Given the description of an element on the screen output the (x, y) to click on. 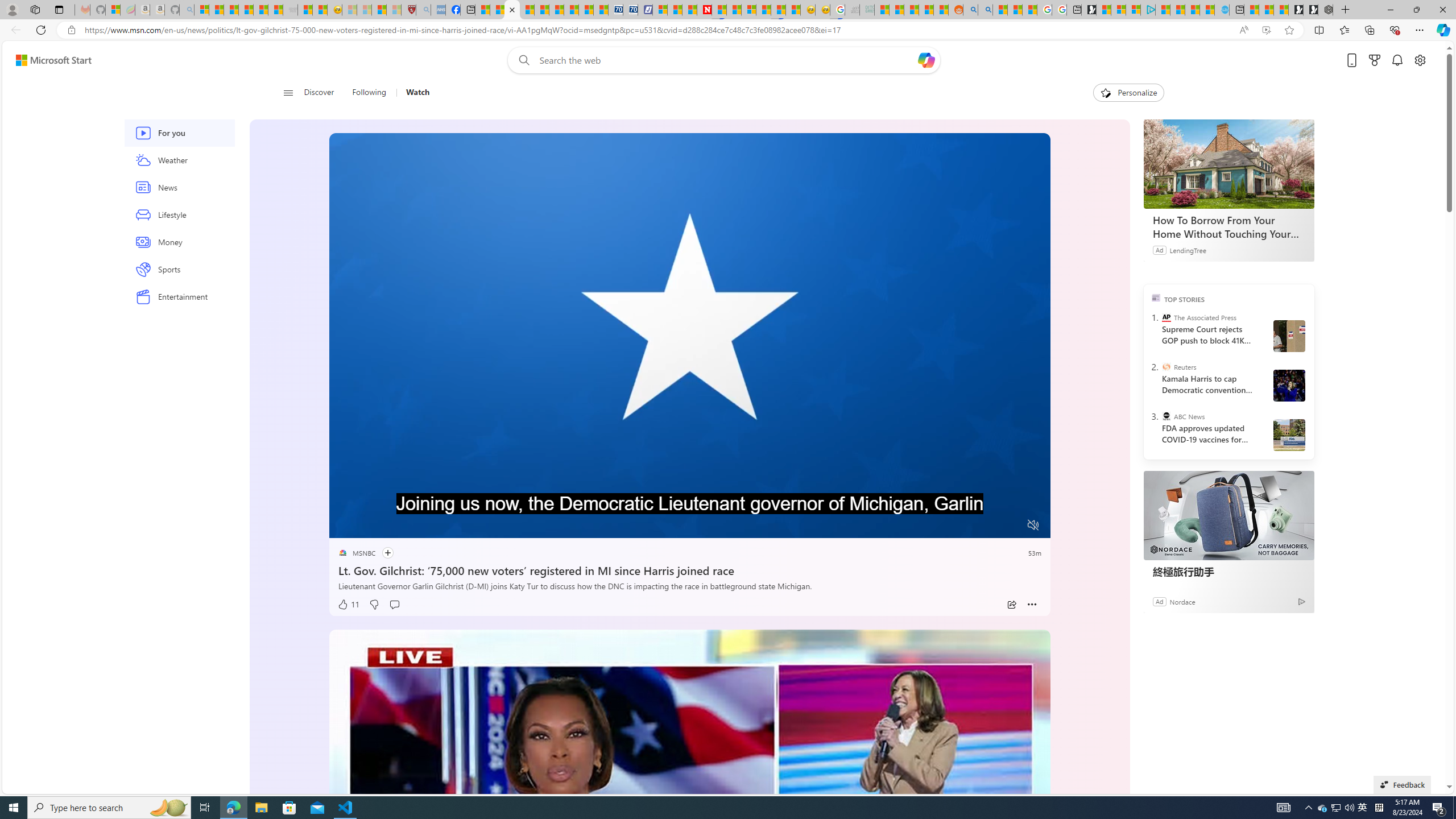
More (1031, 604)
